Given the description of an element on the screen output the (x, y) to click on. 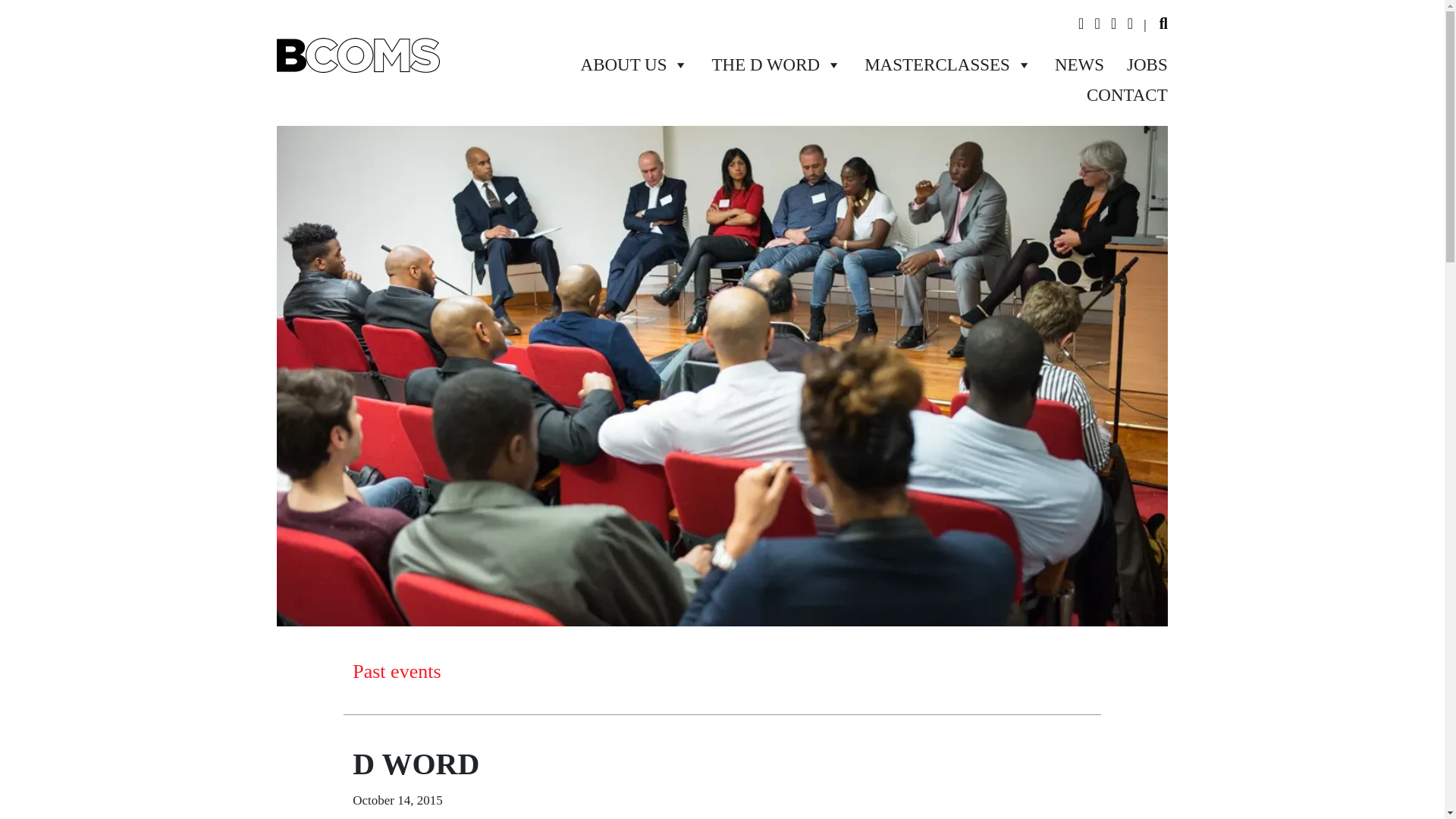
JOBS (1135, 64)
THE D WORD (764, 64)
NEWS (1067, 64)
Past events (396, 671)
ABOUT US (622, 64)
CONTACT (1115, 95)
MASTERCLASSES (936, 64)
